Given the description of an element on the screen output the (x, y) to click on. 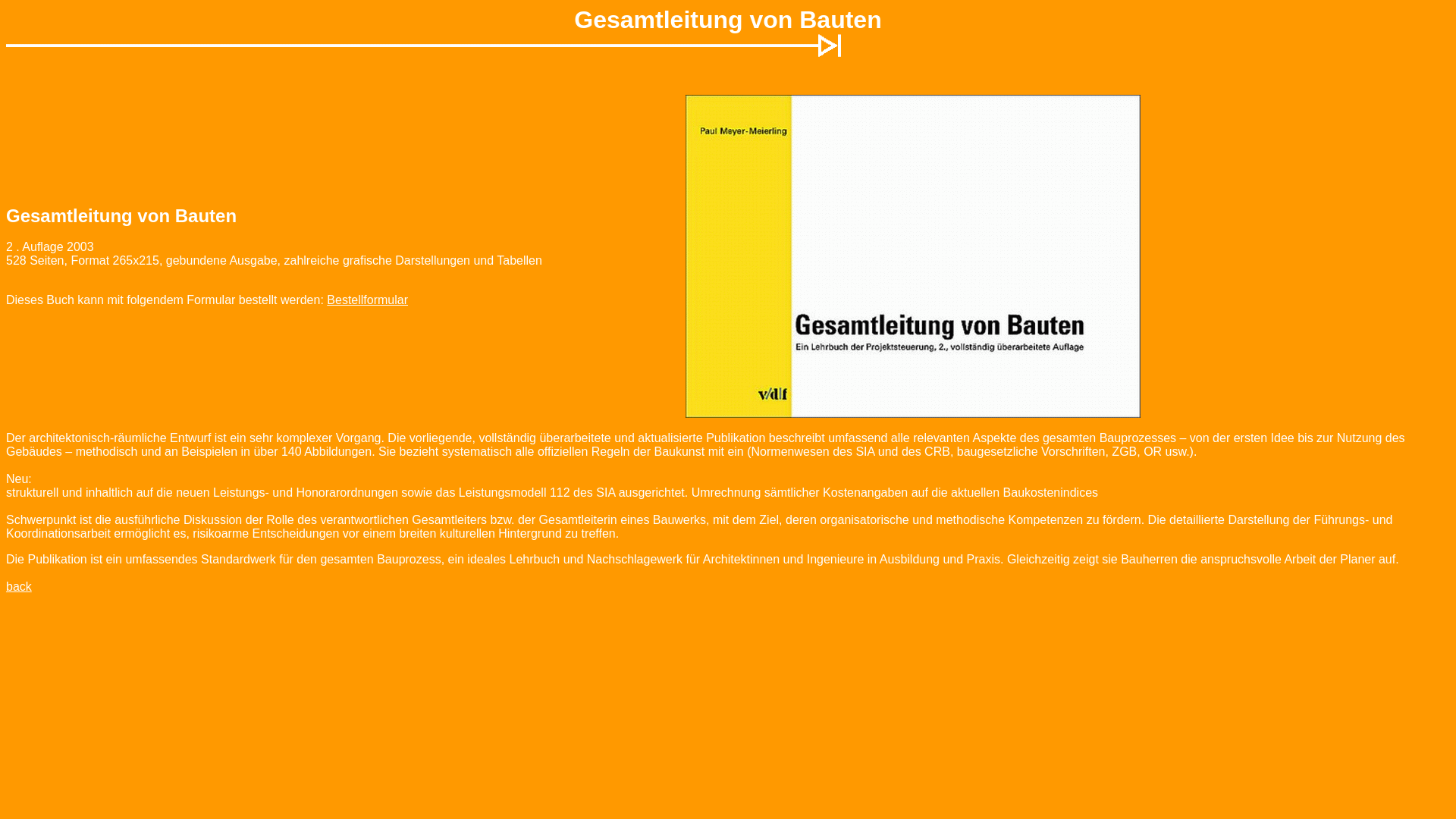
Bestellformular Element type: text (366, 299)
back Element type: text (18, 586)
